Given the description of an element on the screen output the (x, y) to click on. 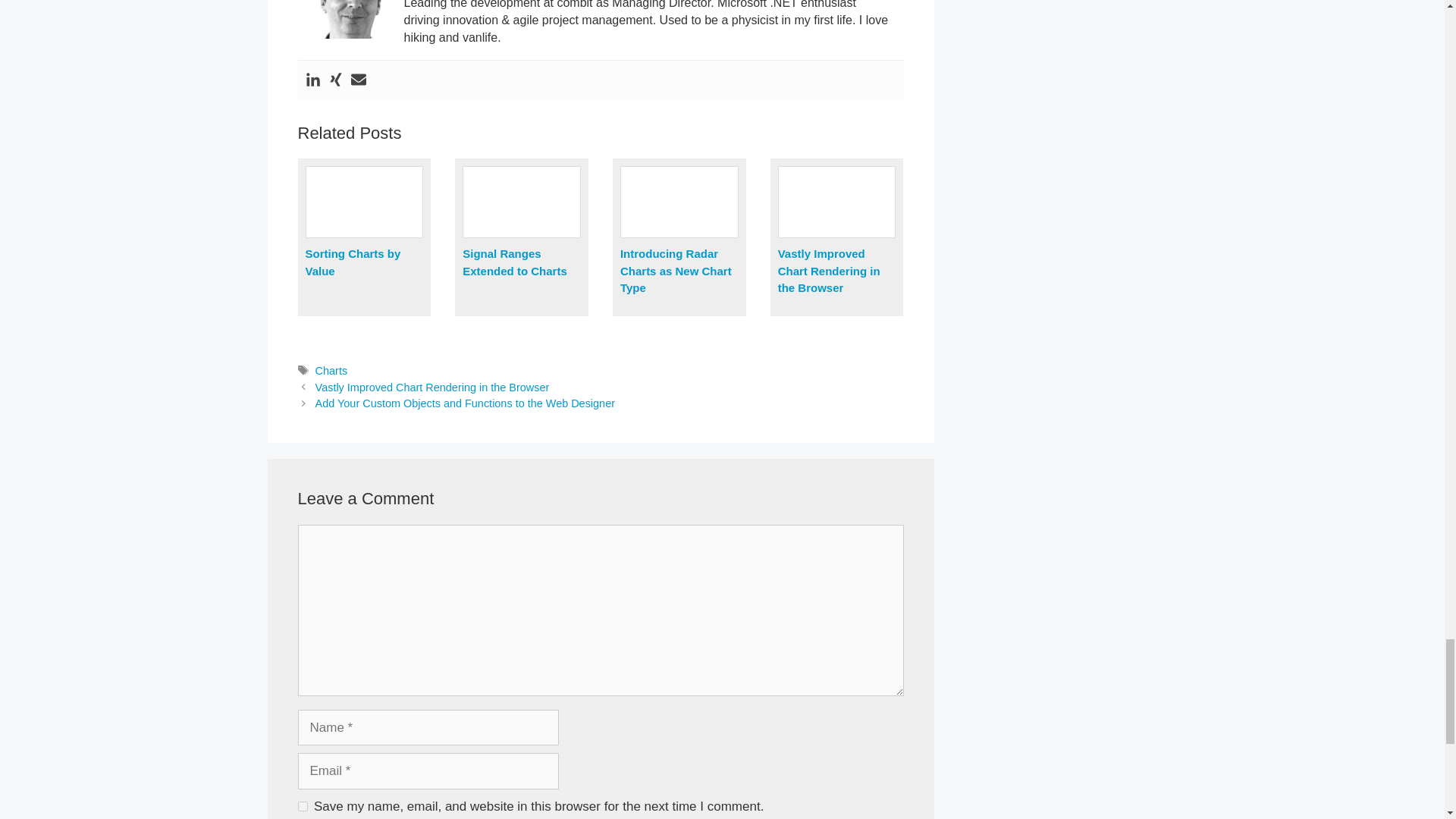
yes (302, 806)
